Given the description of an element on the screen output the (x, y) to click on. 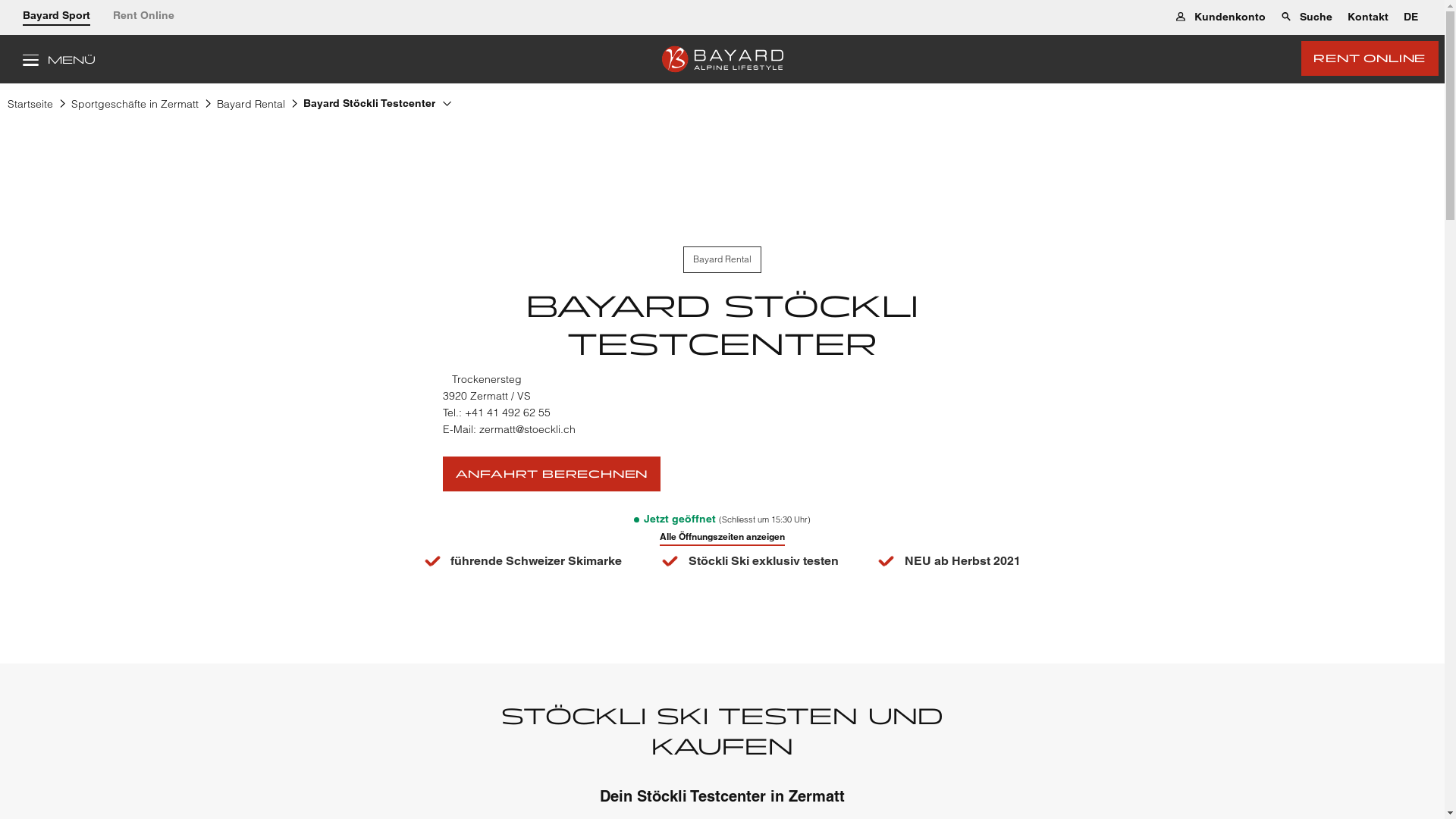
Bayard Sport Element type: text (56, 17)
+41 41 492 62 55 Element type: text (507, 412)
zermatt@stoeckli.ch Element type: text (527, 429)
Startseite Element type: text (30, 106)
Bayard Rental Element type: text (250, 106)
Kontakt Element type: text (1367, 17)
ANFAHRT BERECHNEN Element type: text (551, 473)
RENT ONLINE Element type: text (1369, 57)
Rent Online Element type: text (143, 17)
